Given the description of an element on the screen output the (x, y) to click on. 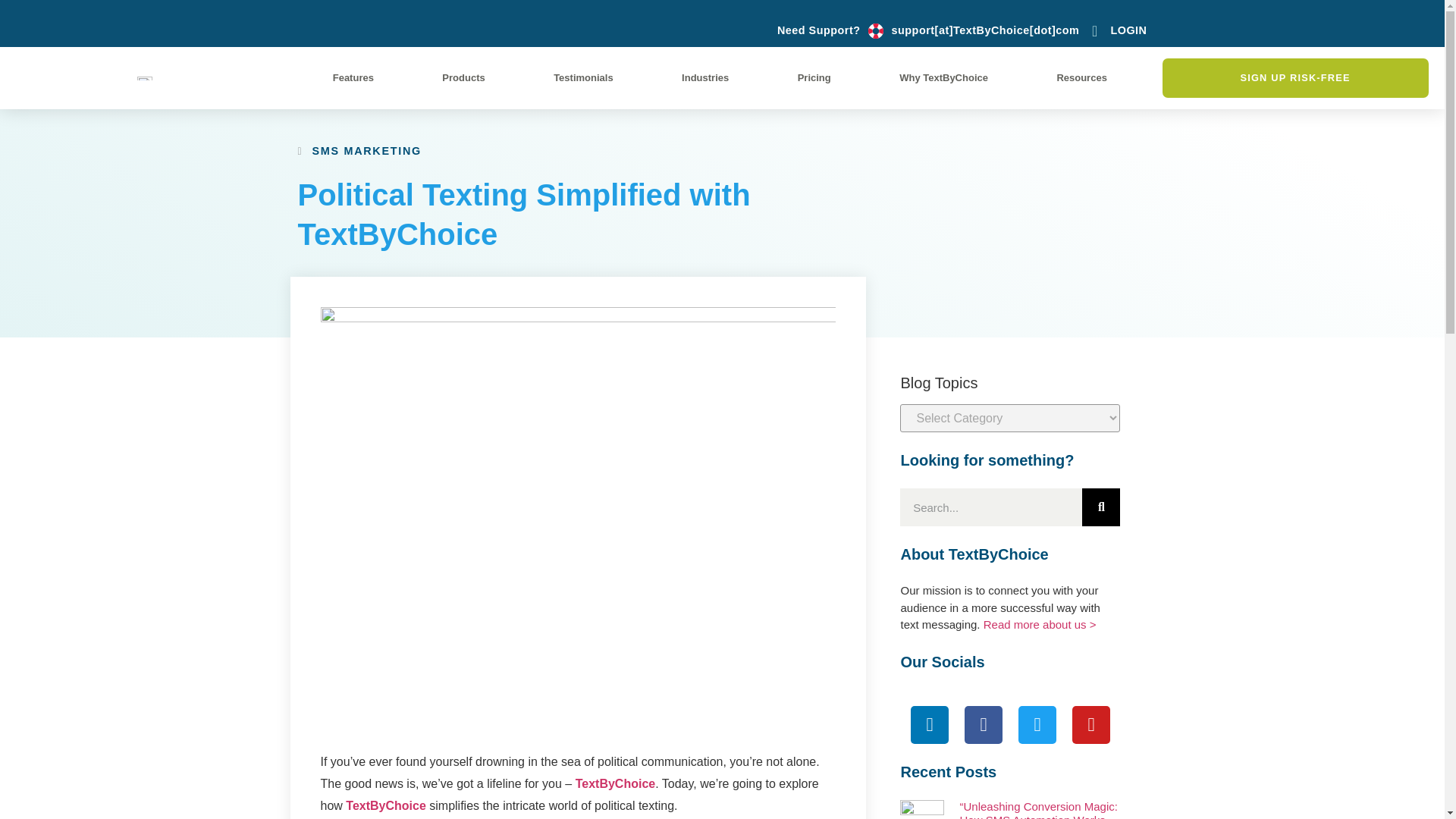
Resources (1082, 77)
LOGIN (1115, 30)
Pricing (814, 77)
Features (352, 77)
Search (1100, 507)
Search (990, 507)
Why TextByChoice (943, 77)
Industries (705, 77)
Testimonials (583, 77)
Products (464, 77)
